Given the description of an element on the screen output the (x, y) to click on. 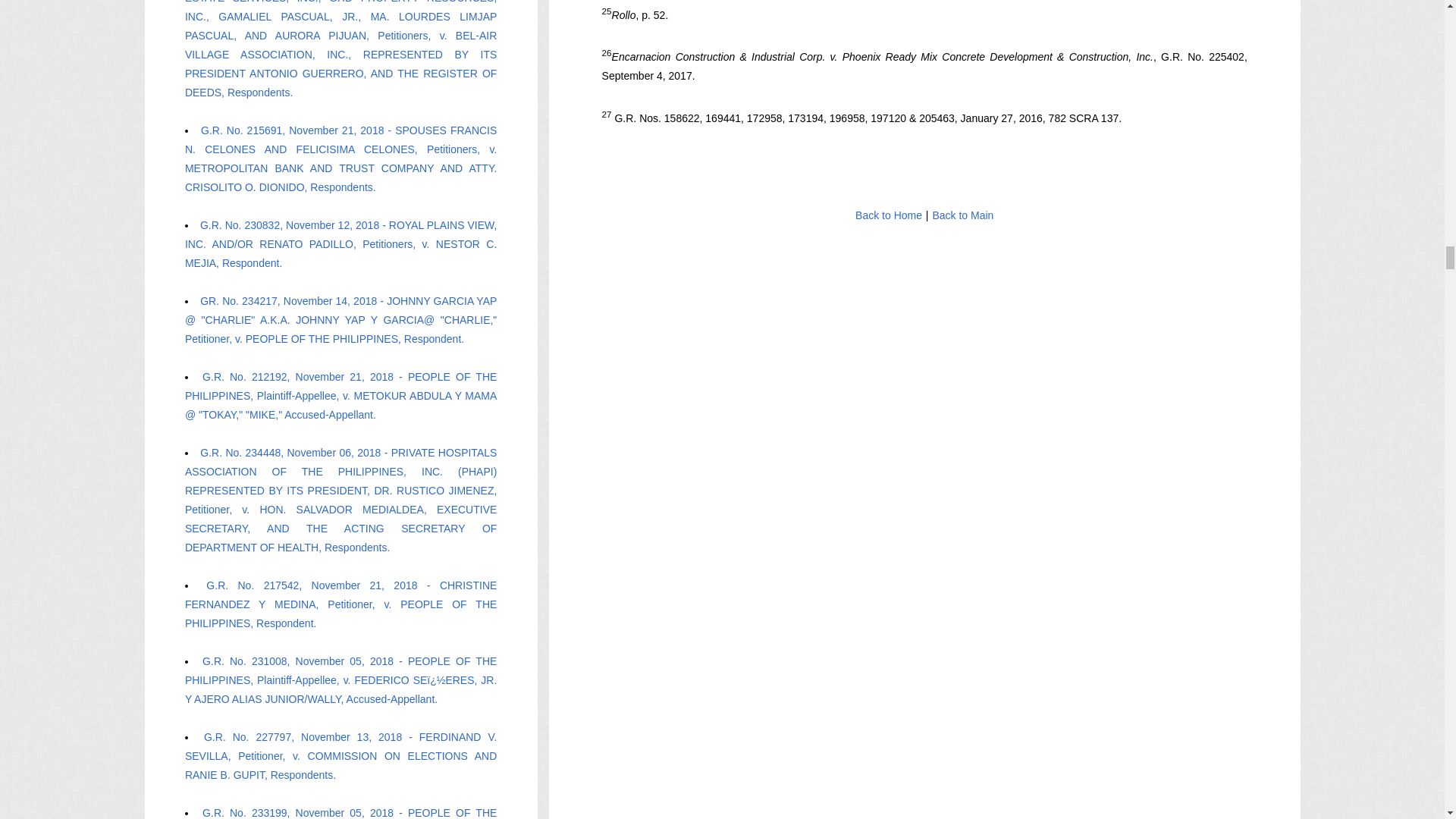
Back to Home (888, 215)
Back to Main (962, 215)
